Given the description of an element on the screen output the (x, y) to click on. 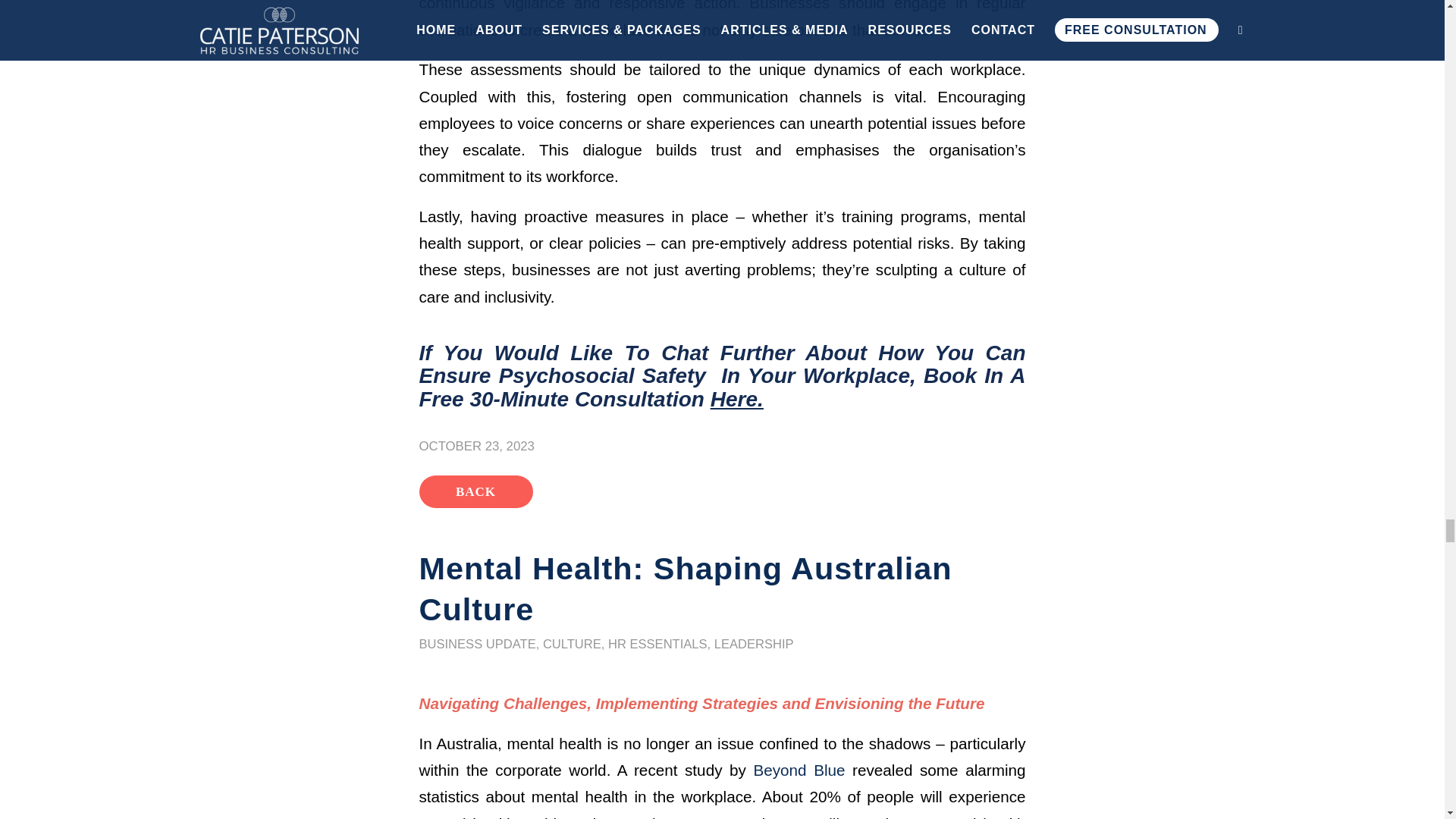
Permanent Link: Mental Health: Shaping Australian Culture (685, 589)
